Given the description of an element on the screen output the (x, y) to click on. 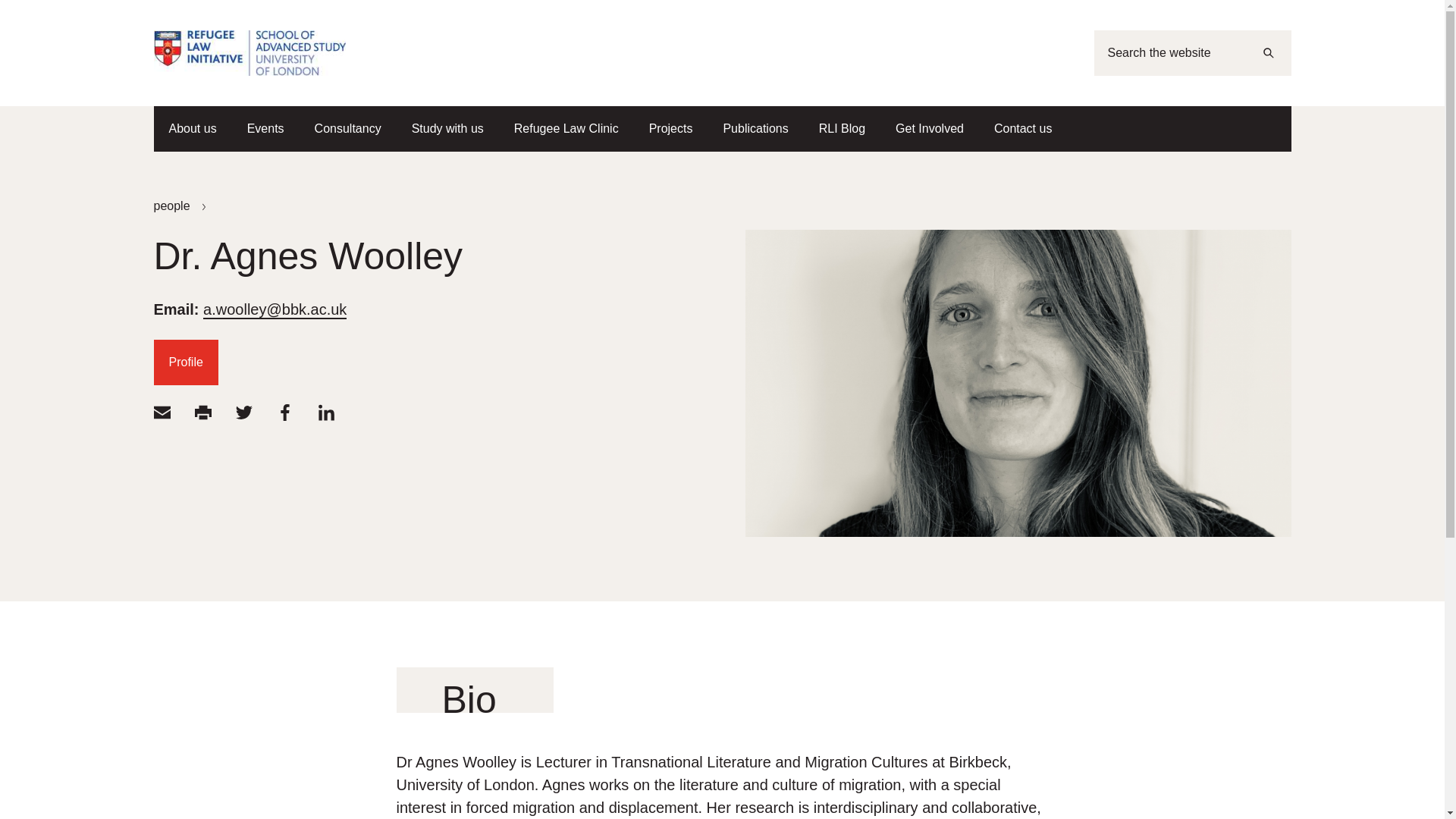
Get Involved (929, 128)
Refugee Law Clinic (566, 128)
Consultancy (347, 128)
Publications (755, 128)
Search (1267, 53)
Events (265, 128)
Email page (161, 412)
About us (191, 128)
Home (249, 53)
Contact us (1022, 128)
Study with us (447, 128)
Print page (202, 412)
Projects (670, 128)
RLI Blog (841, 128)
